Given the description of an element on the screen output the (x, y) to click on. 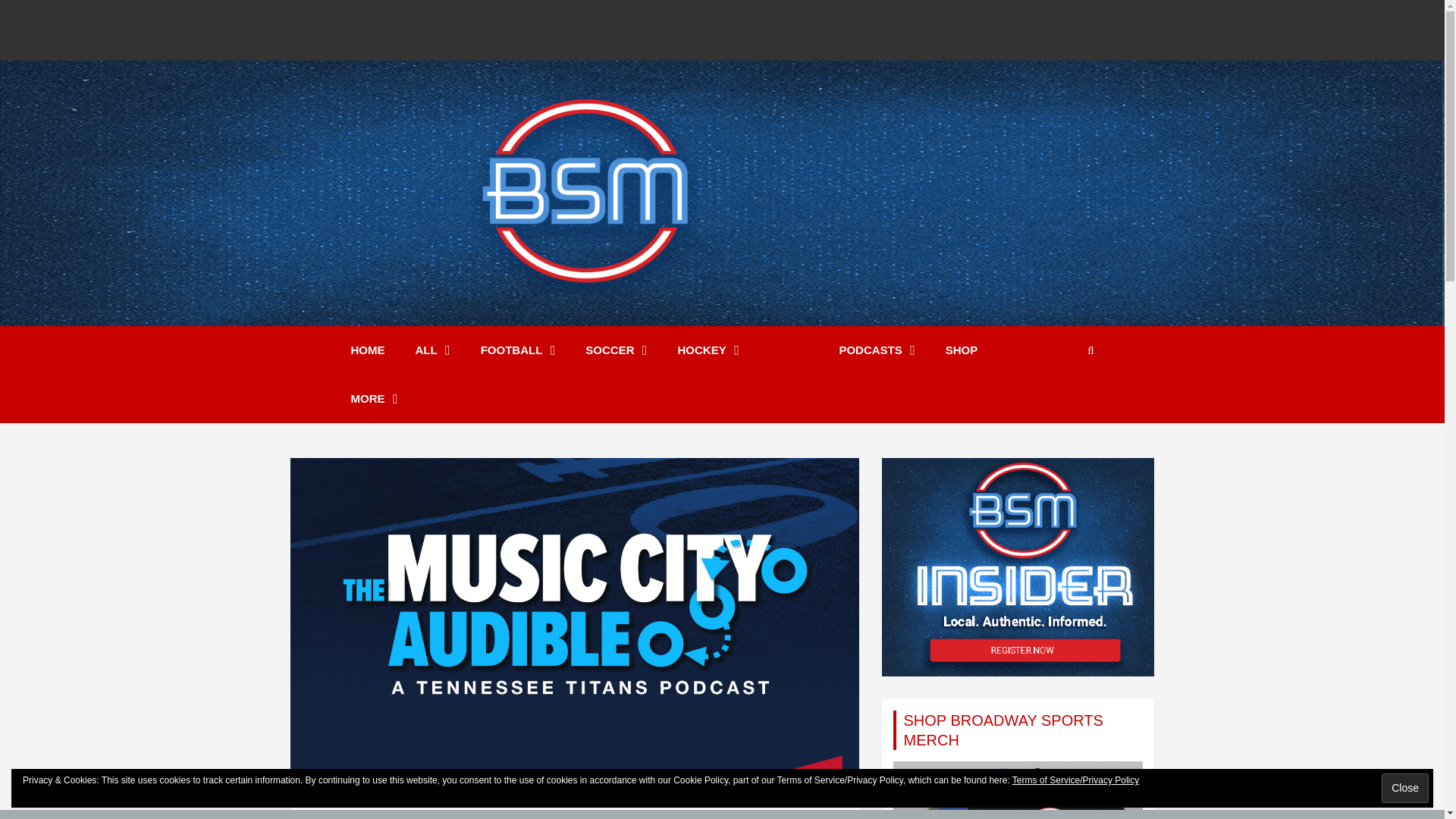
ALL (432, 349)
Close (1404, 788)
Broadway Sports Media (592, 334)
FOOTBALL (517, 349)
HOME (366, 349)
